Given the description of an element on the screen output the (x, y) to click on. 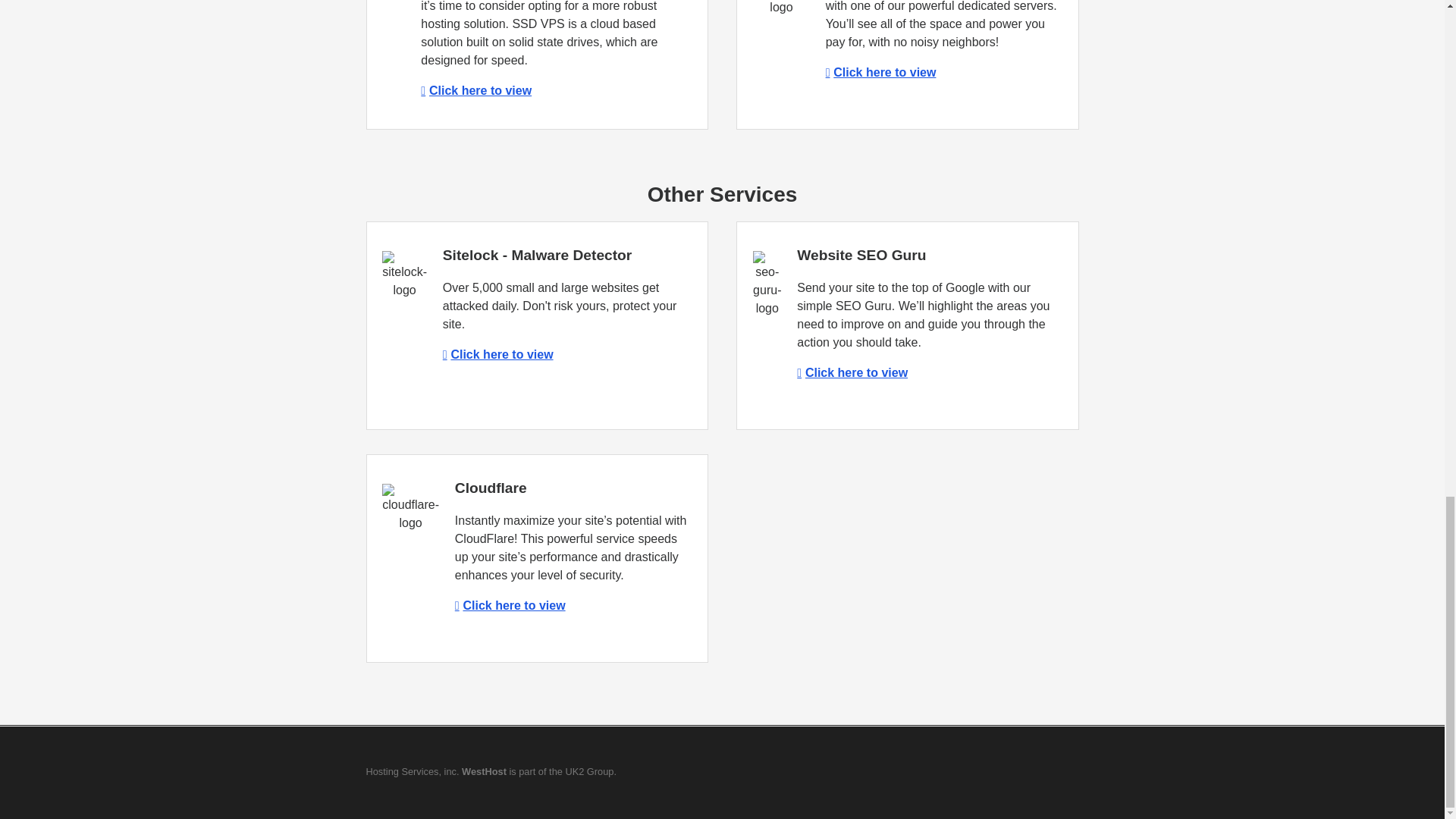
WestHost (483, 771)
Click here to view (880, 72)
Click here to view (510, 604)
Click here to view (497, 354)
Click here to view (475, 90)
Click here to view (851, 372)
